Given the description of an element on the screen output the (x, y) to click on. 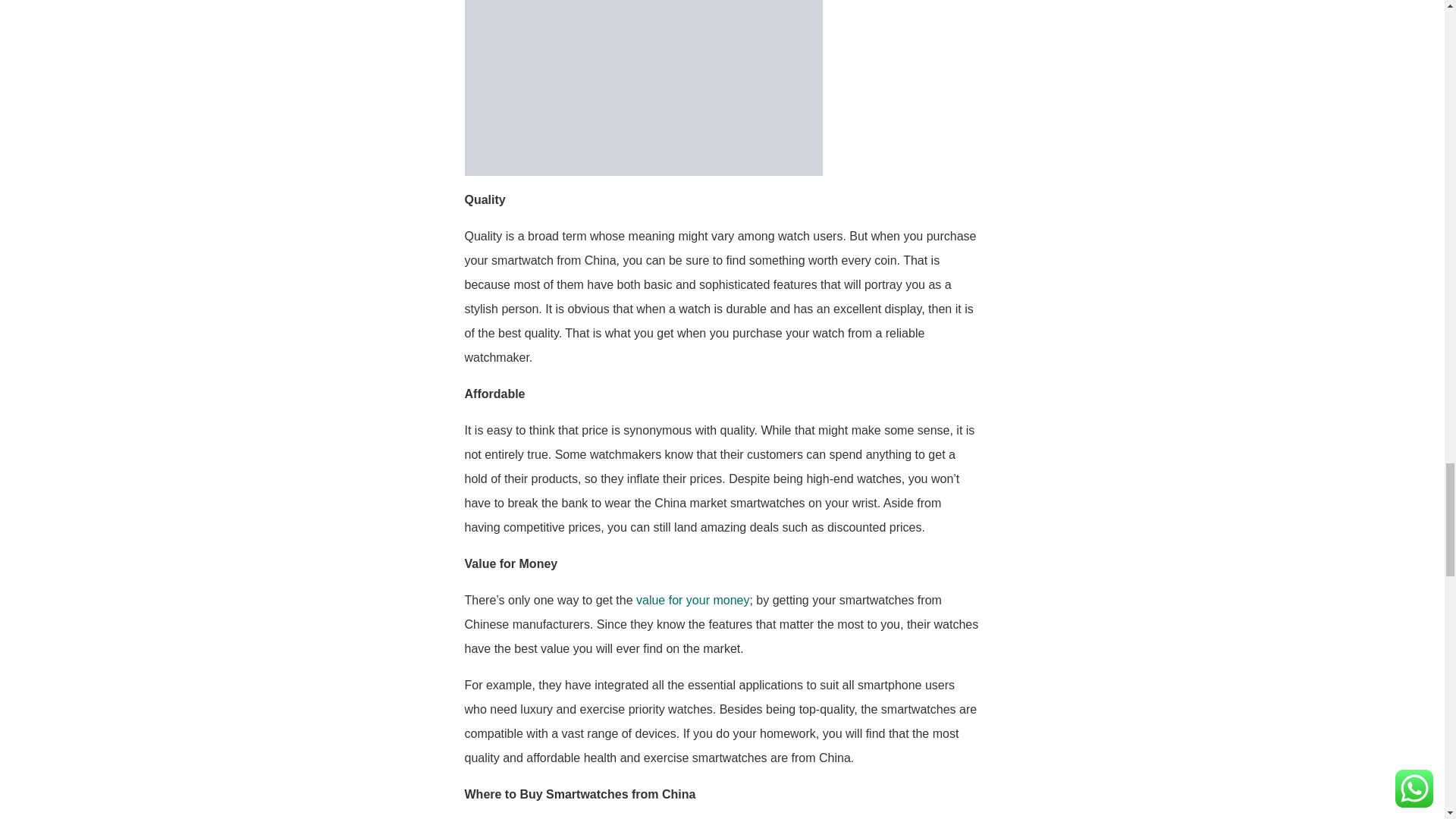
value for your money (692, 599)
